Given the description of an element on the screen output the (x, y) to click on. 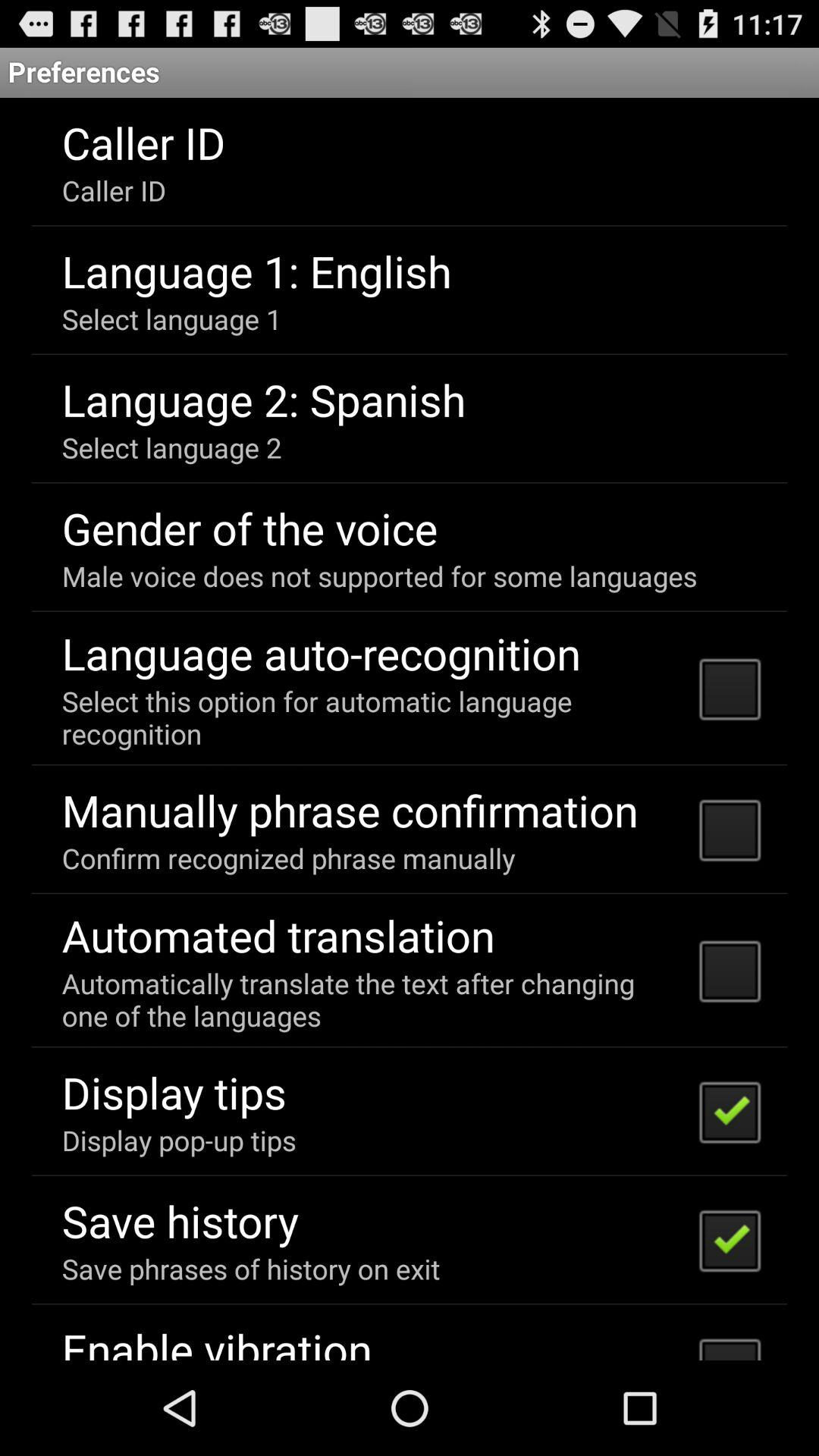
press icon below preferences item (409, 728)
